Given the description of an element on the screen output the (x, y) to click on. 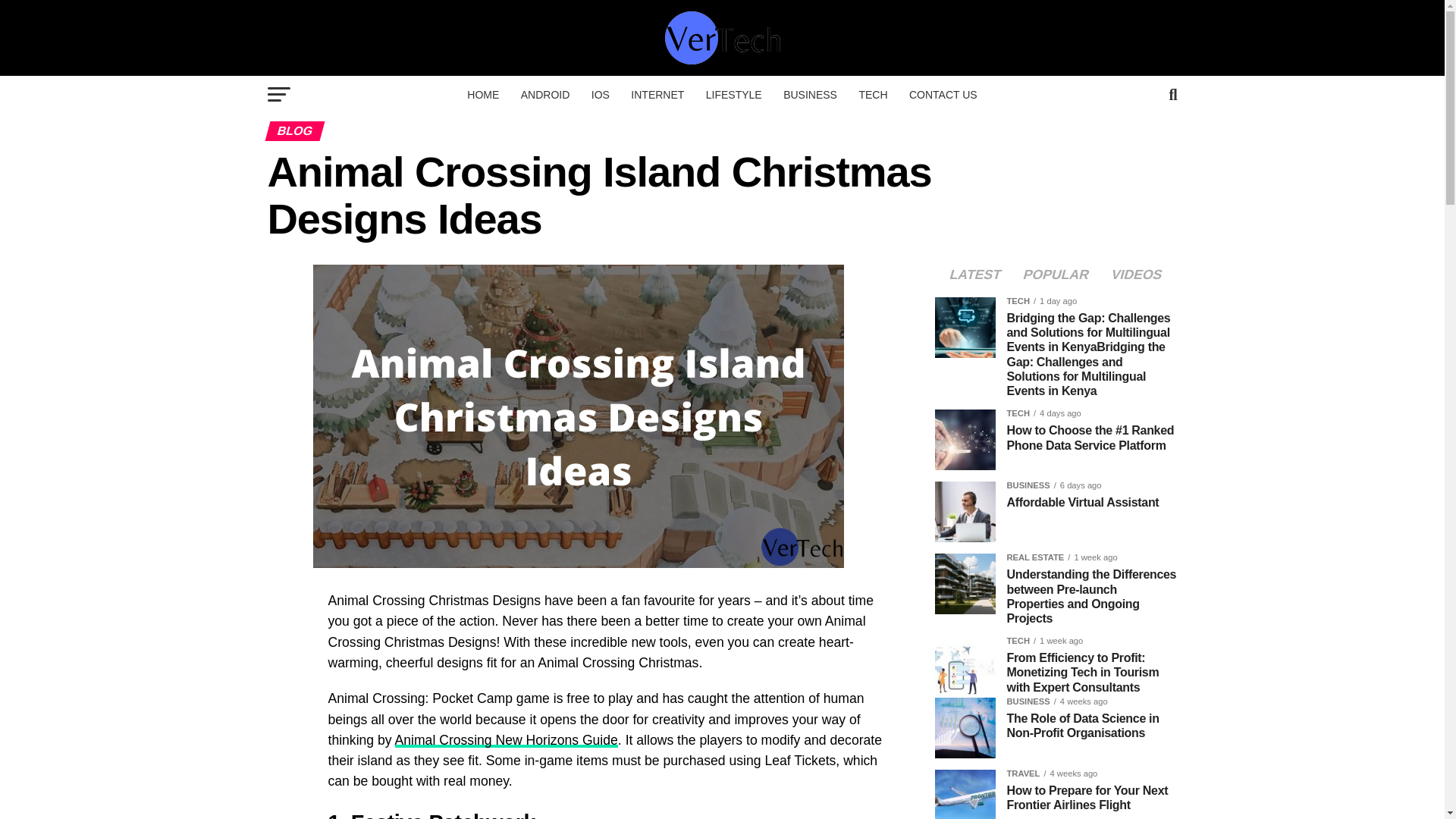
HOME (483, 94)
ANDROID (545, 94)
INTERNET (657, 94)
BUSINESS (809, 94)
LIFESTYLE (734, 94)
IOS (600, 94)
